Given the description of an element on the screen output the (x, y) to click on. 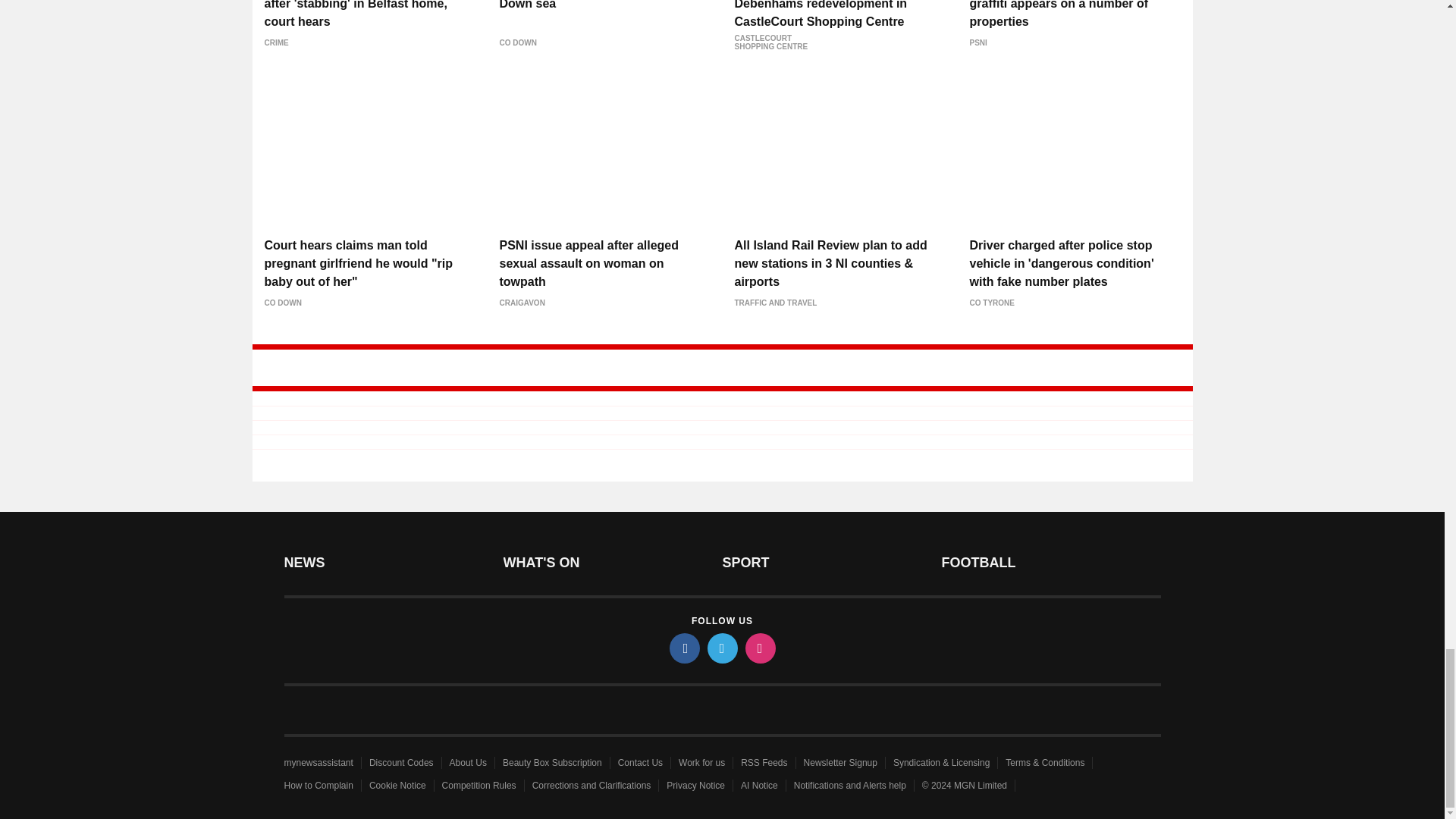
facebook (683, 648)
instagram (759, 648)
twitter (721, 648)
